Given the description of an element on the screen output the (x, y) to click on. 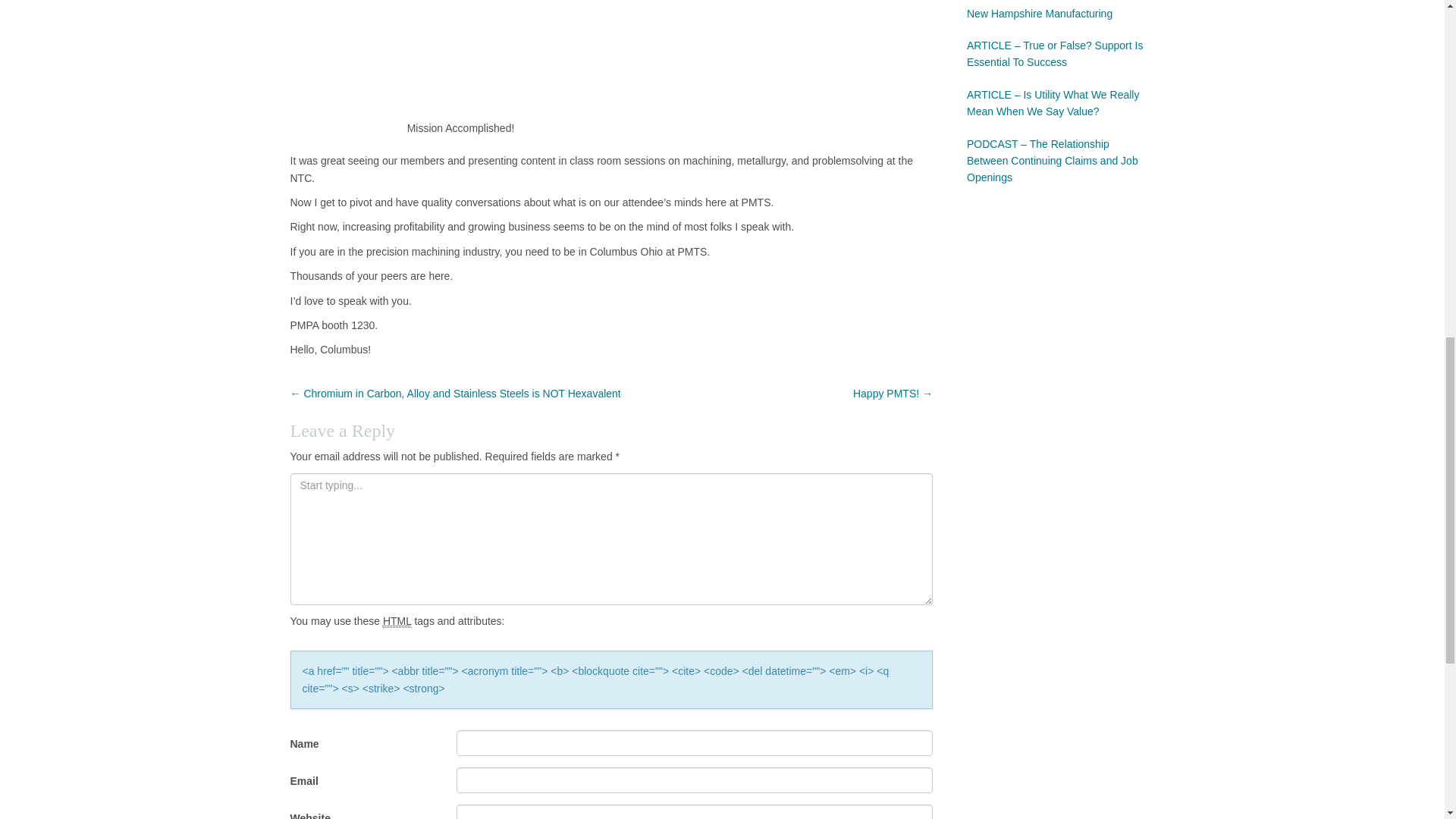
HyperText Markup Language (397, 621)
